Given the description of an element on the screen output the (x, y) to click on. 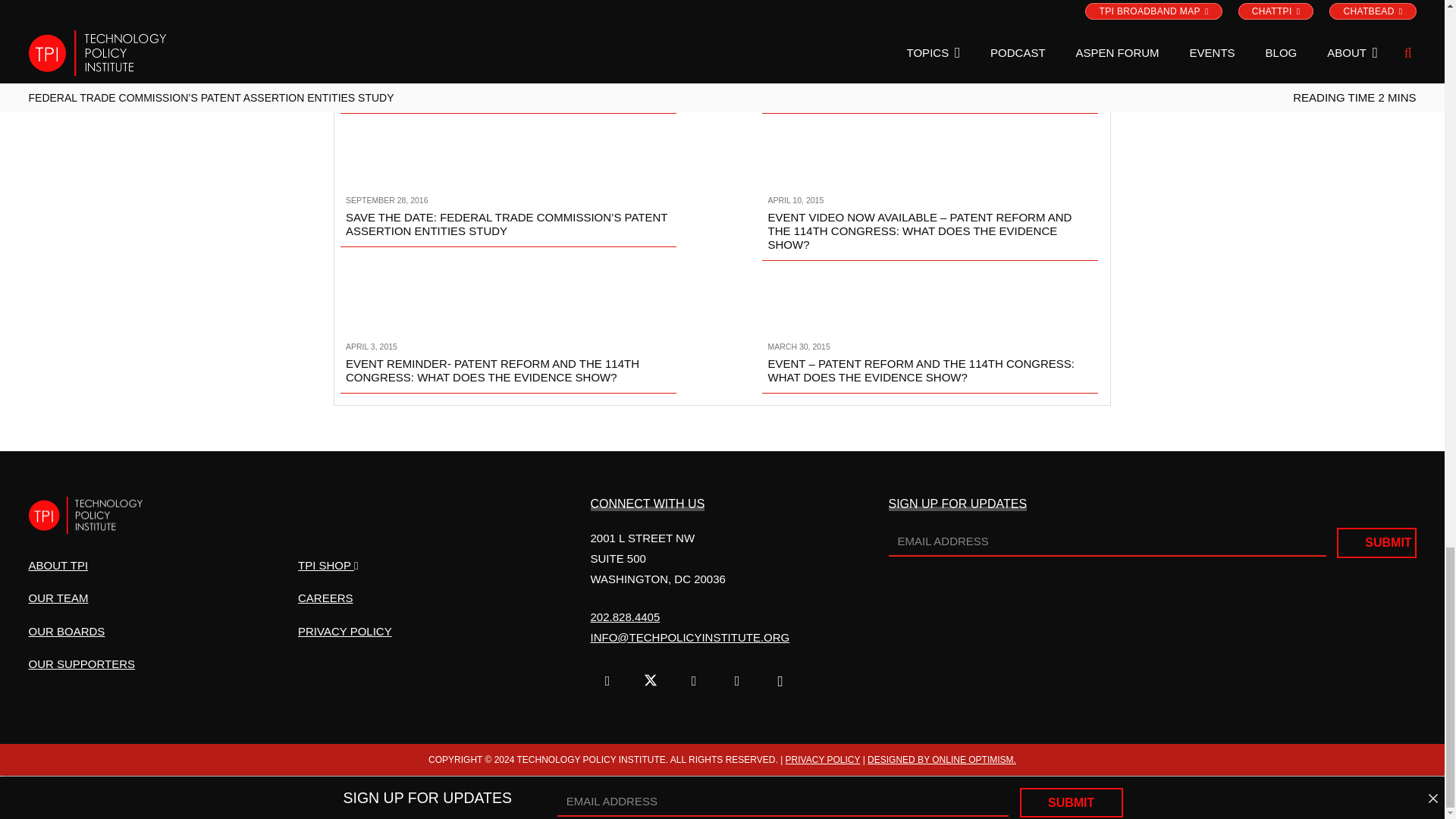
Facebook (606, 681)
YouTube (693, 681)
Submit (1375, 542)
Twitter (650, 681)
LinkedIn (737, 681)
Instagram (779, 681)
